Given the description of an element on the screen output the (x, y) to click on. 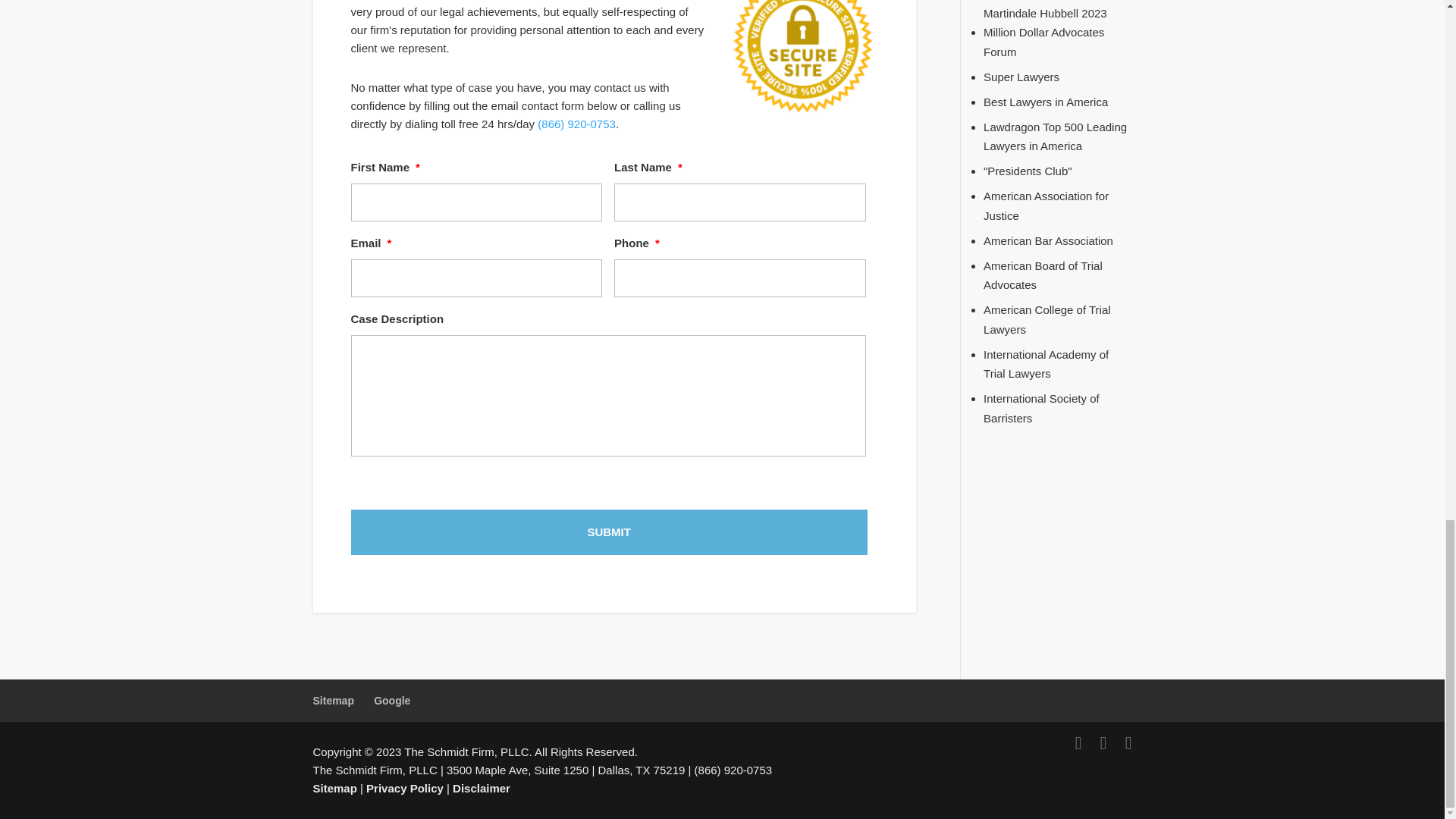
Submit (608, 532)
Google (392, 700)
Submit (608, 532)
Sitemap (333, 700)
